Given the description of an element on the screen output the (x, y) to click on. 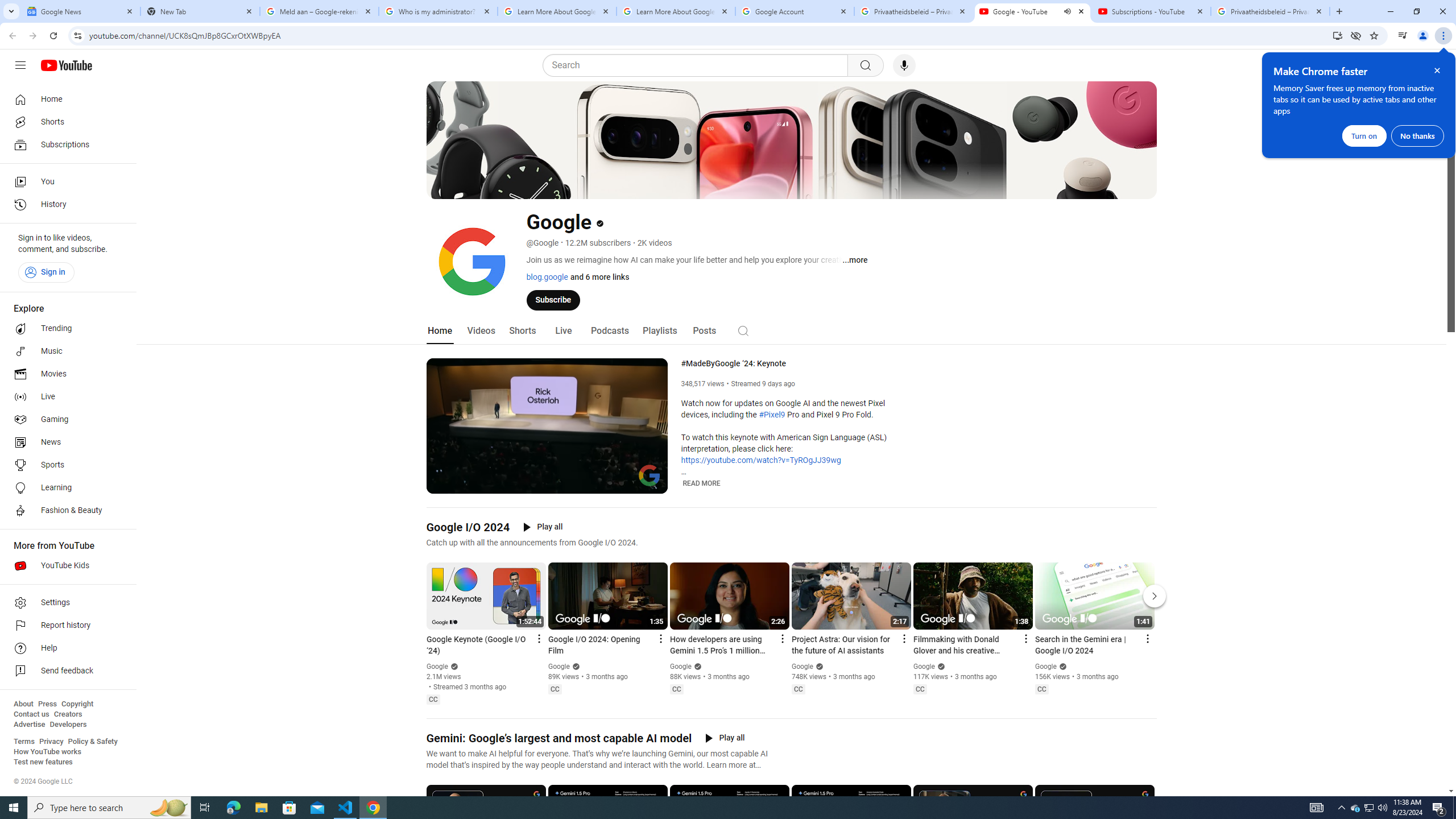
Closed captions (1041, 688)
Copyright (77, 703)
YouTube Home (66, 65)
How YouTube works (47, 751)
Settings (1365, 65)
https://youtube.com/watch?v=TyROgJJ39wg (761, 460)
About (23, 703)
